Given the description of an element on the screen output the (x, y) to click on. 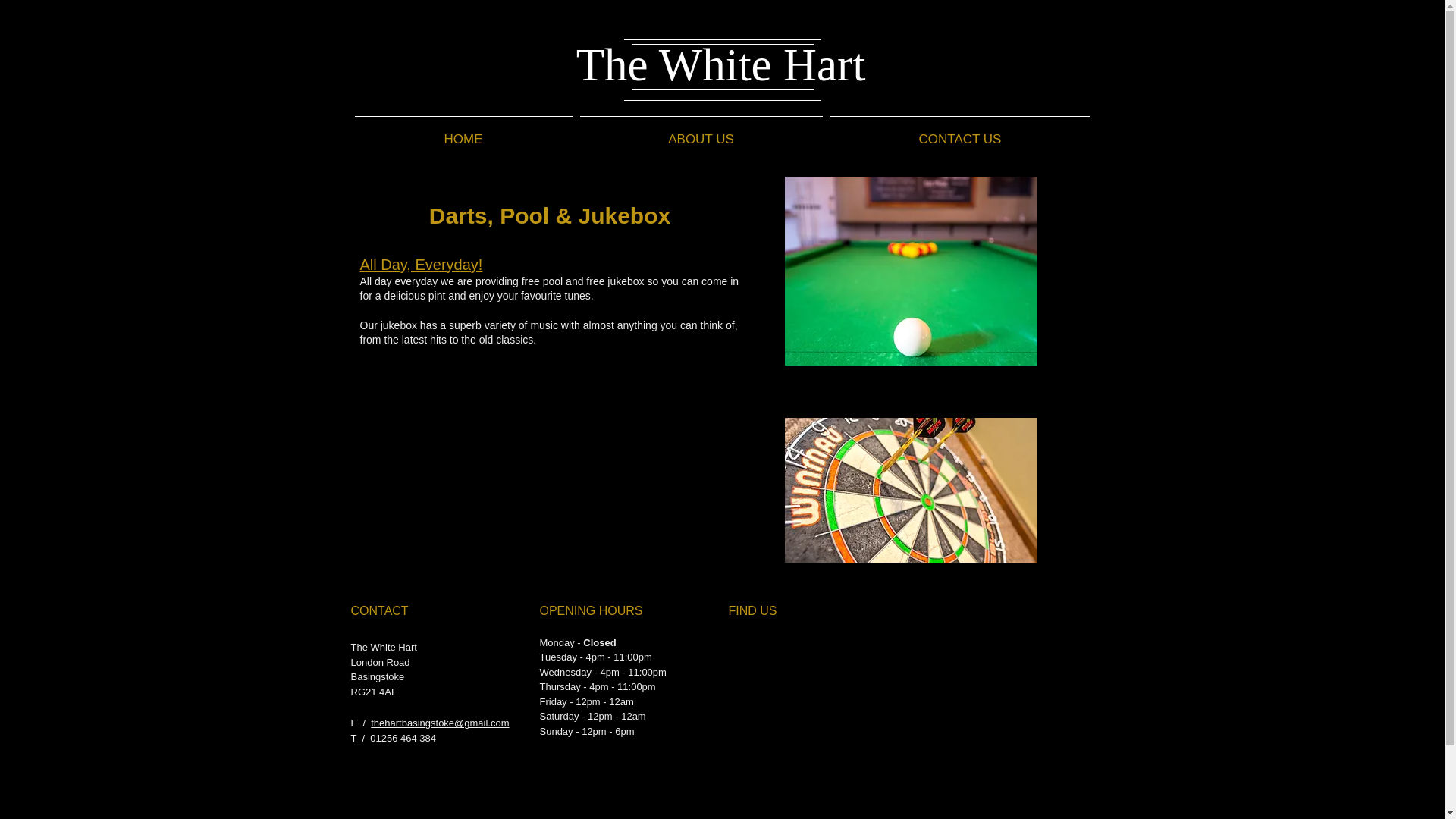
The White Hart (721, 64)
CONTACT US (960, 132)
ABOUT US (701, 132)
HOME (462, 132)
